Given the description of an element on the screen output the (x, y) to click on. 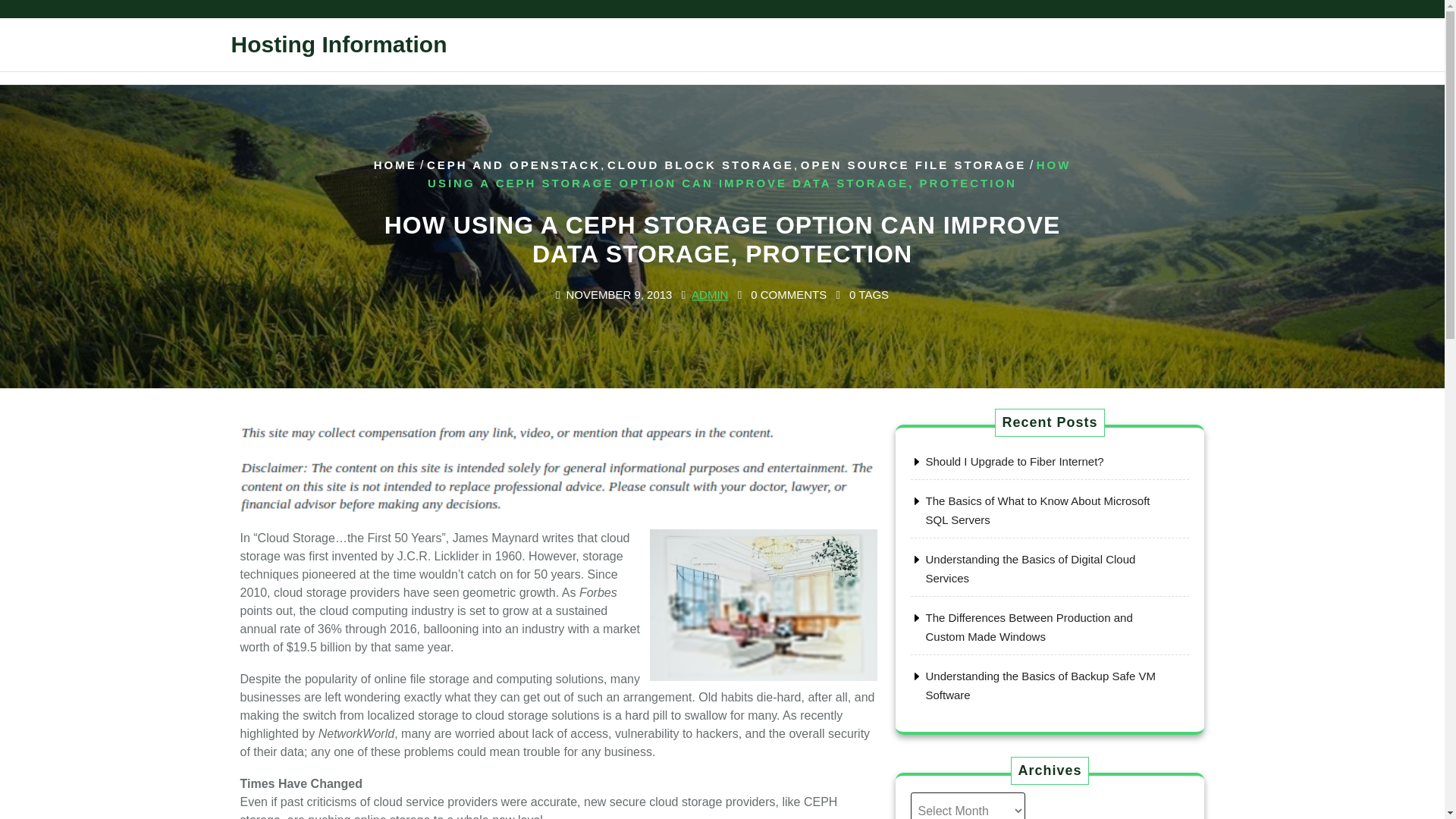
Should I Upgrade to Fiber Internet? (1013, 461)
ADMIN (709, 295)
Hosting Information (338, 43)
CEPH AND OPENSTACK (512, 164)
The Differences Between Production and Custom Made Windows (1028, 626)
Understanding the Basics of Digital Cloud Services (1029, 568)
OPEN SOURCE FILE STORAGE (913, 164)
Understanding the Basics of Backup Safe VM Software (1040, 685)
The Basics of What to Know About Microsoft SQL Servers (1037, 510)
CLOUD BLOCK STORAGE (700, 164)
